Given the description of an element on the screen output the (x, y) to click on. 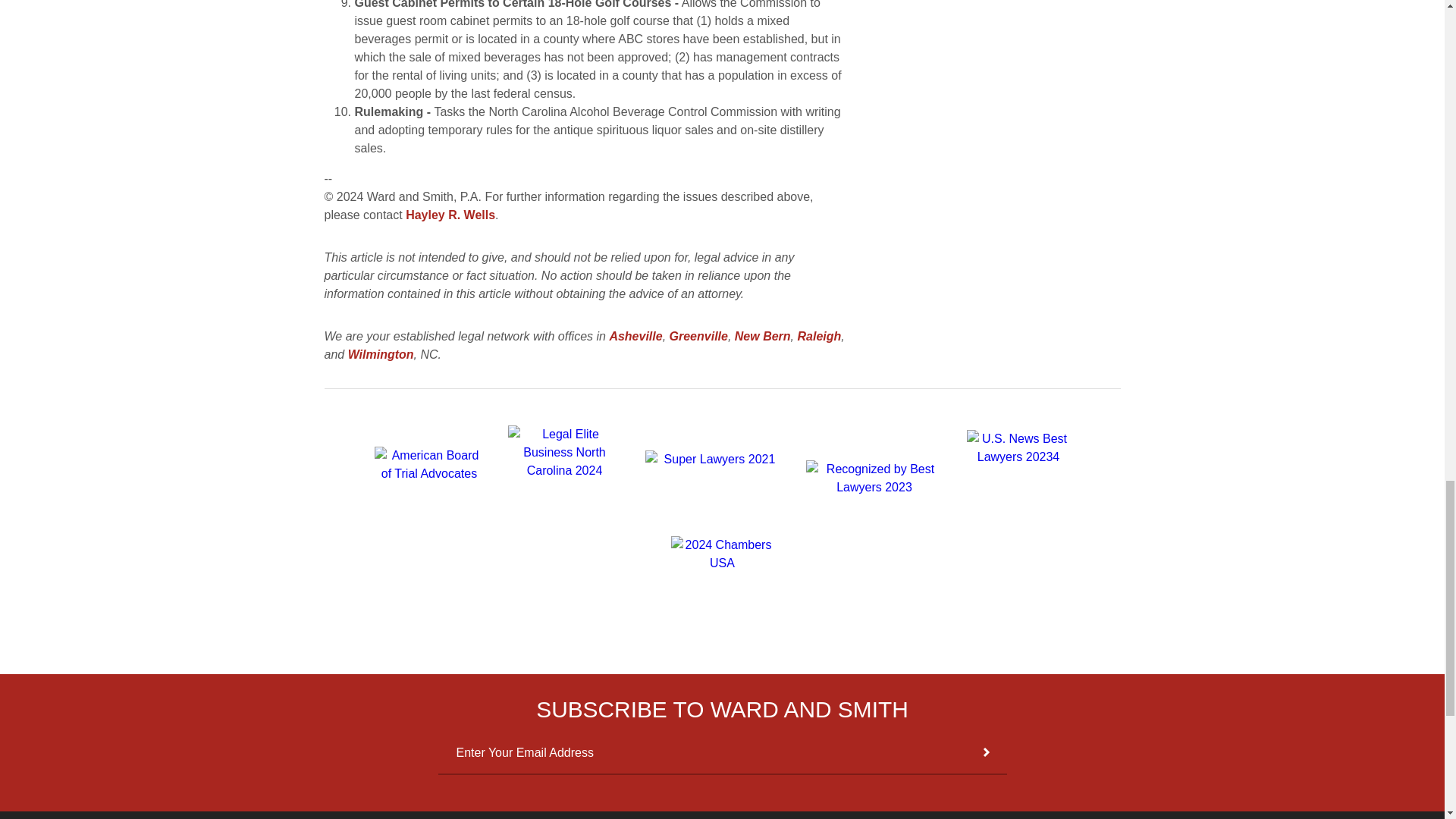
Greenville (698, 336)
Asheville (635, 336)
New Bern (762, 336)
Hayley R. Wells (450, 214)
Raleigh (819, 336)
Wilmington (380, 354)
